Given the description of an element on the screen output the (x, y) to click on. 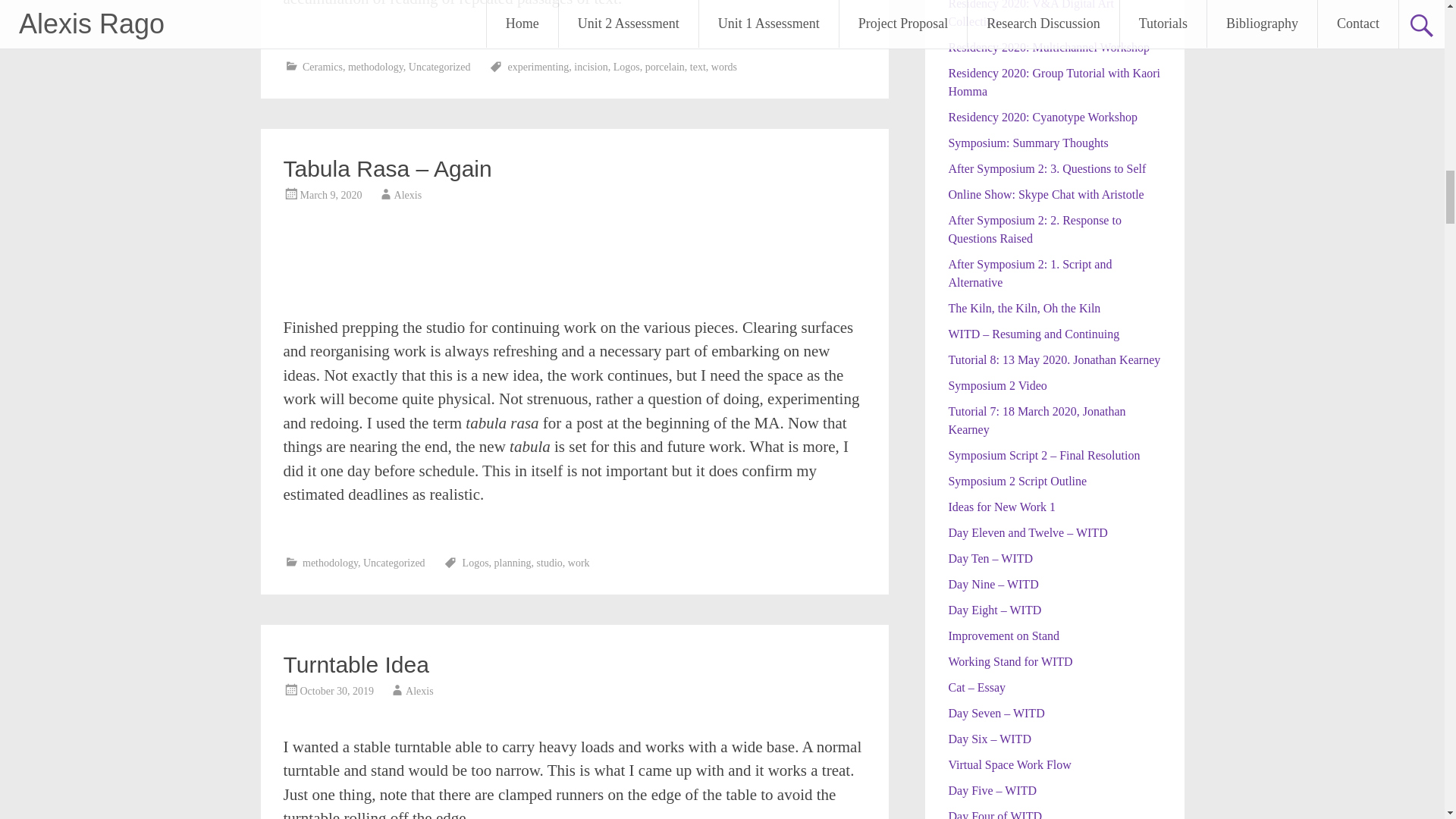
text (698, 66)
Ceramics (322, 66)
Turntable Idea (356, 664)
experimenting (537, 66)
planning (513, 562)
methodology (330, 562)
Uncategorized (393, 562)
Uncategorized (439, 66)
March 9, 2020 (330, 194)
work (578, 562)
methodology (375, 66)
Logos (476, 562)
incision (590, 66)
Alexis (408, 194)
studio (549, 562)
